Given the description of an element on the screen output the (x, y) to click on. 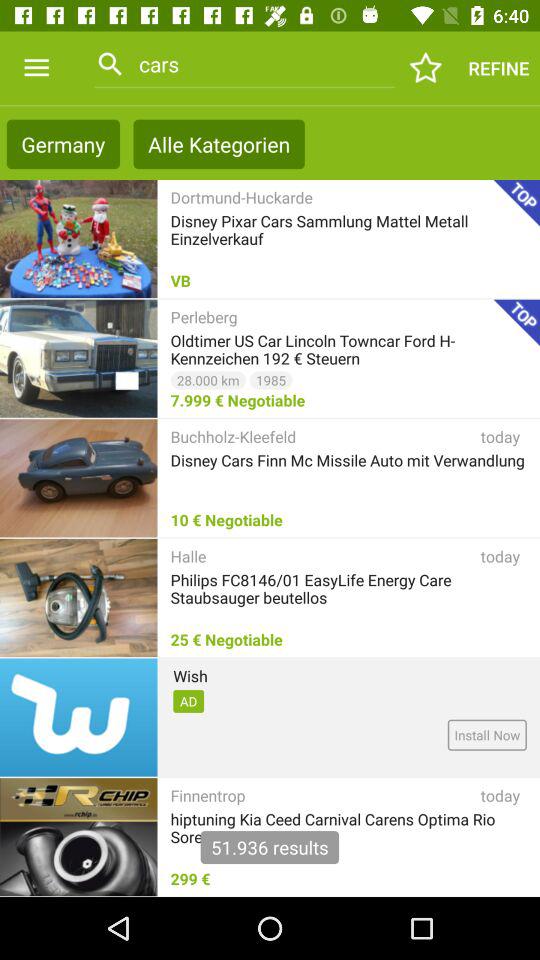
jump to refine icon (498, 67)
